Given the description of an element on the screen output the (x, y) to click on. 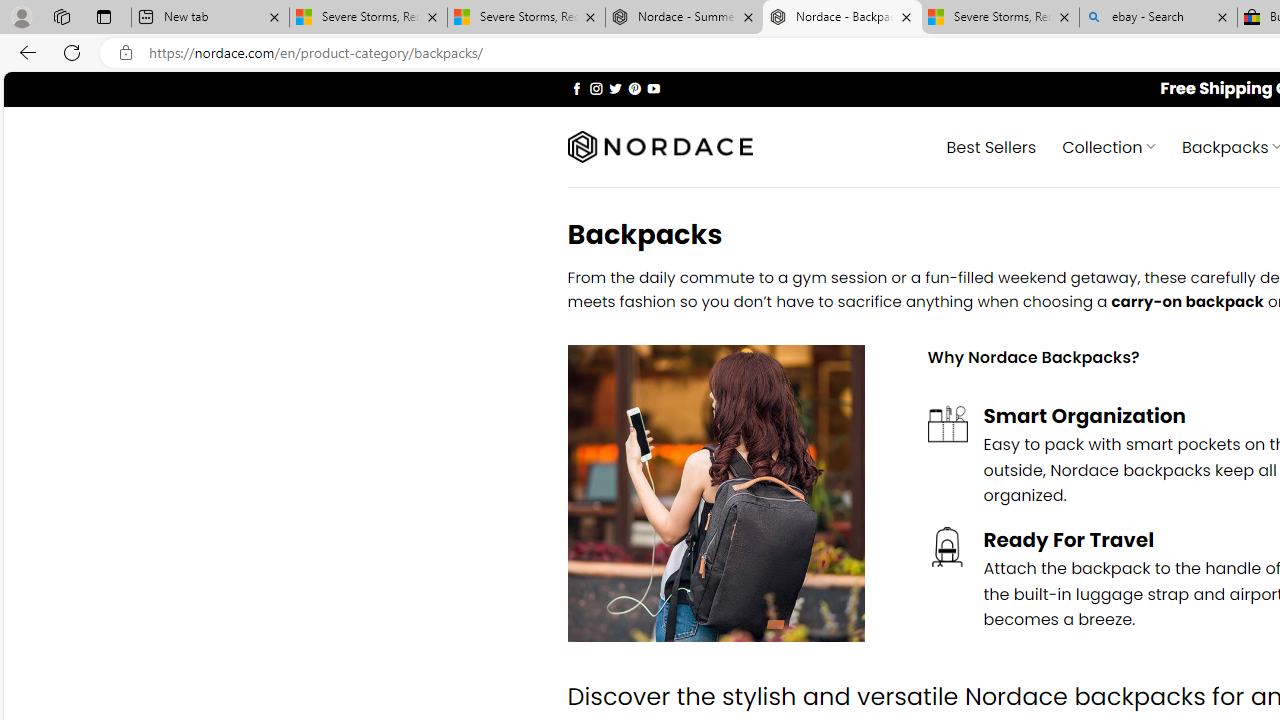
  Best Sellers (990, 146)
